Given the description of an element on the screen output the (x, y) to click on. 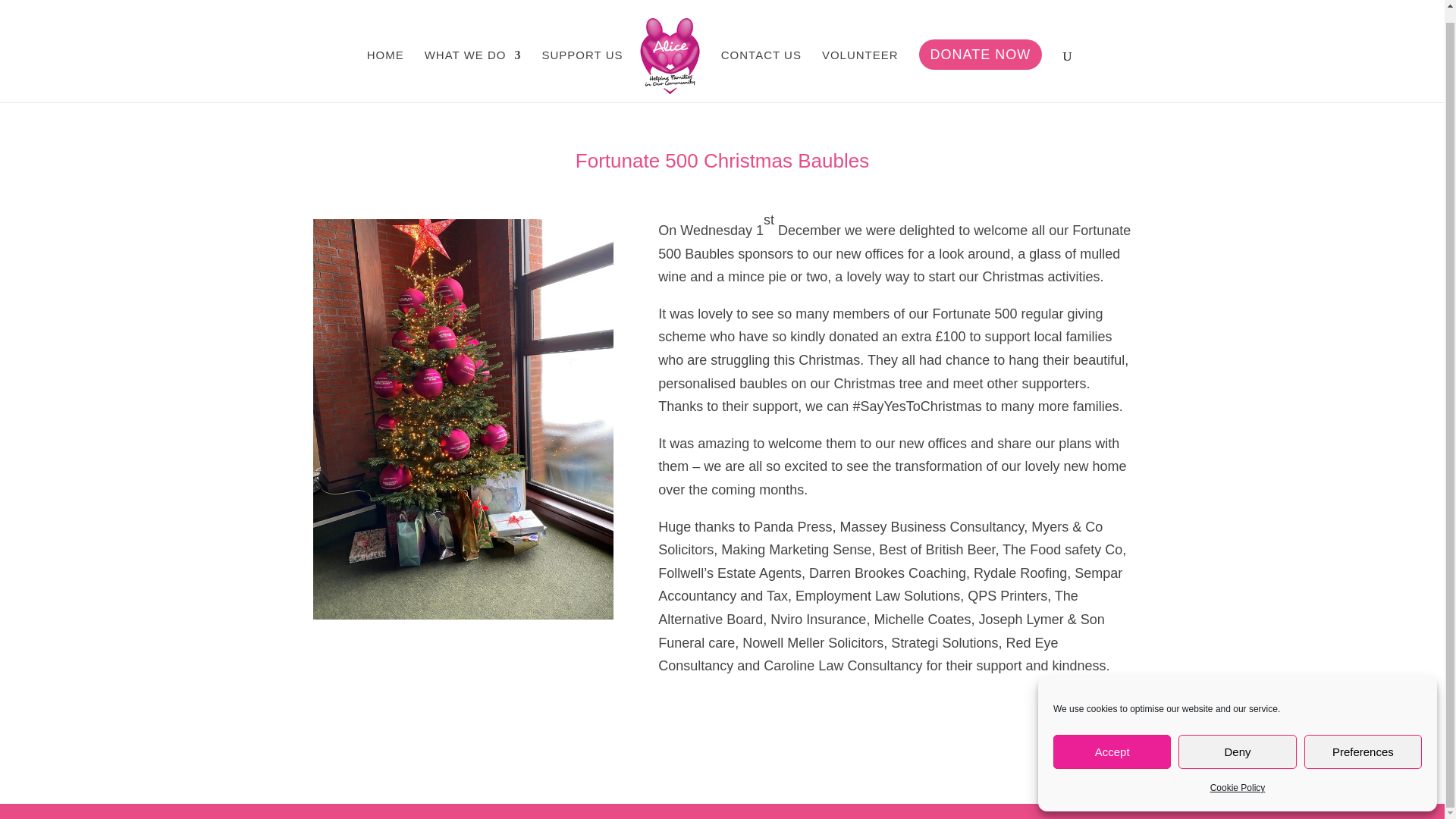
Cookie Policy (1237, 775)
WHAT WE DO (473, 63)
Deny (1236, 739)
VOLUNTEER (860, 63)
SUPPORT US (582, 63)
Accept (1111, 739)
DONATE NOW (980, 63)
Preferences (1363, 739)
CONTACT US (761, 63)
